Given the description of an element on the screen output the (x, y) to click on. 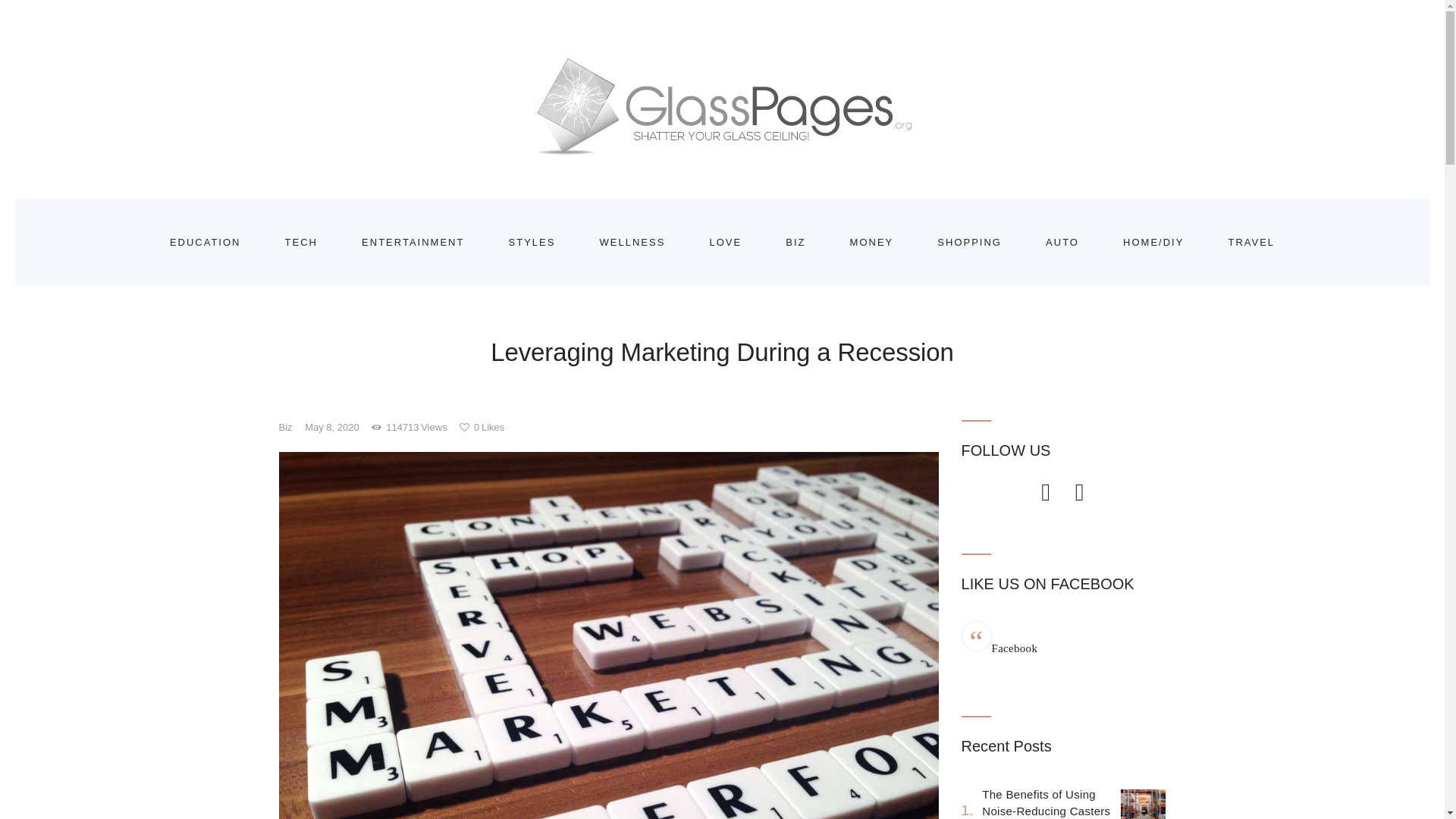
WELLNESS (631, 242)
114713Views (414, 427)
SHOPPING (969, 242)
ENTERTAINMENT (412, 242)
Like (481, 427)
BIZ (795, 242)
EDUCATION (205, 242)
MONEY (871, 242)
Biz (285, 427)
LOVE (725, 242)
TECH (301, 242)
0Likes (481, 427)
STYLES (532, 242)
TRAVEL (1251, 242)
May 8, 2020 (331, 427)
